Given the description of an element on the screen output the (x, y) to click on. 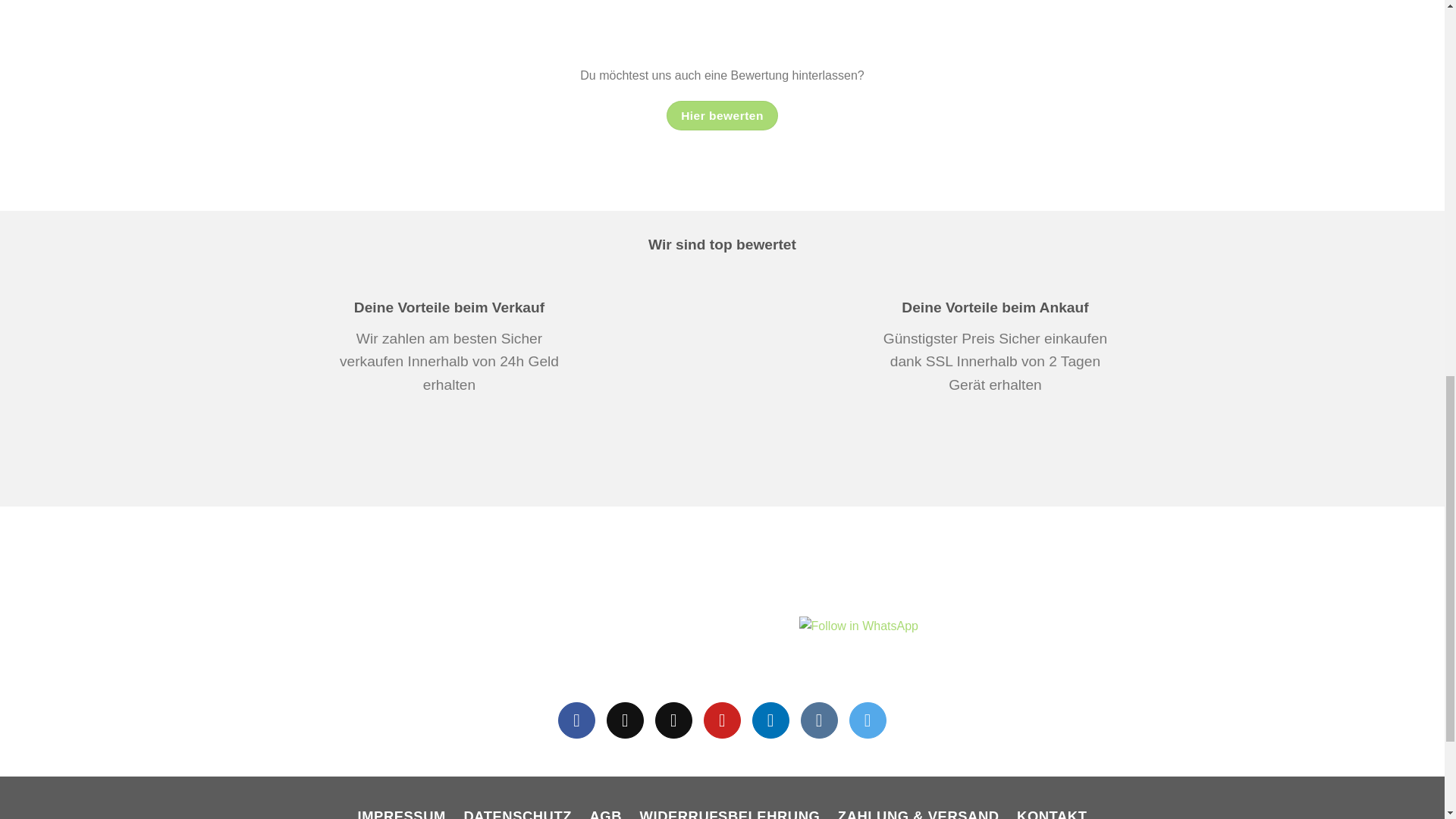
Hier bewerten (722, 115)
Follow in WhatsApp (858, 634)
AGB (605, 809)
Follow in WhatsApp (858, 634)
IMPRESSUM (401, 809)
WIDERRUFSBELEHRUNG (729, 809)
Sende uns eine E-Mail (674, 720)
Auf Pinterest folgen (722, 720)
Auf X folgen (625, 720)
DATENSCHUTZ (518, 809)
KONTAKT (1051, 809)
Auf Facebook folgen (576, 720)
